Given the description of an element on the screen output the (x, y) to click on. 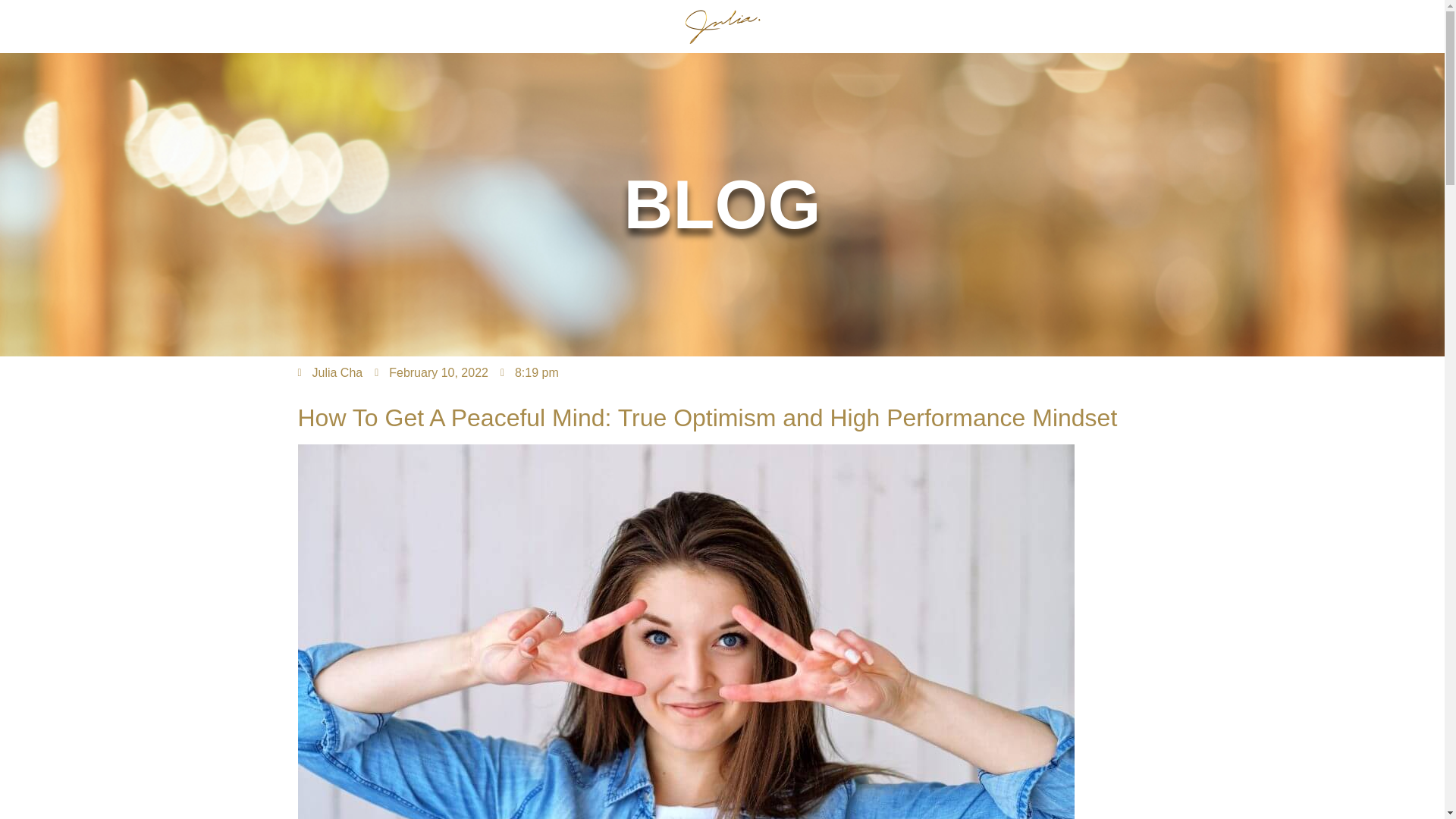
cropped-cropped-julia-sitelogo.png (722, 26)
Julia Cha (329, 372)
February 10, 2022 (430, 372)
